Given the description of an element on the screen output the (x, y) to click on. 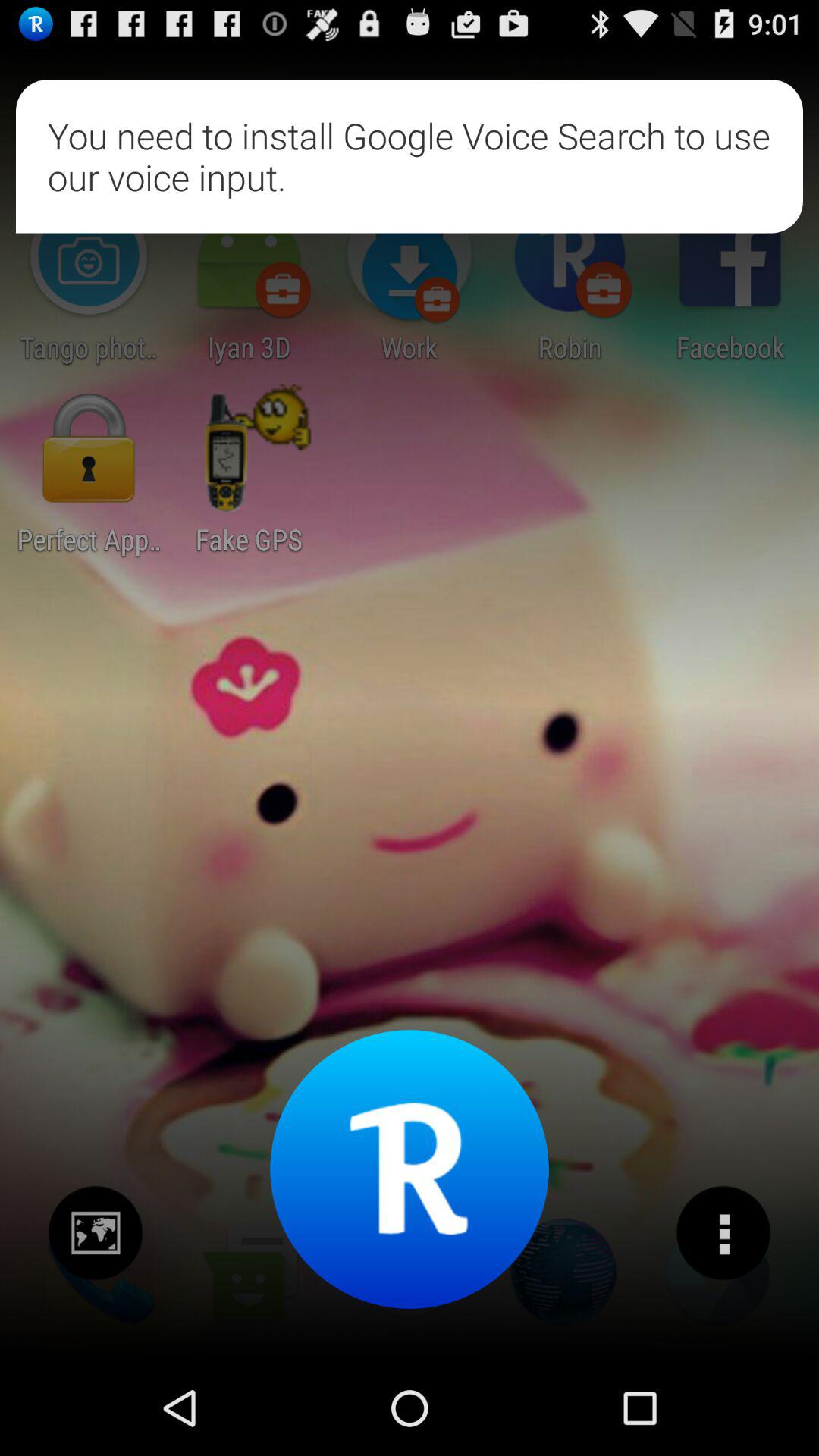
more info button (723, 1232)
